Given the description of an element on the screen output the (x, y) to click on. 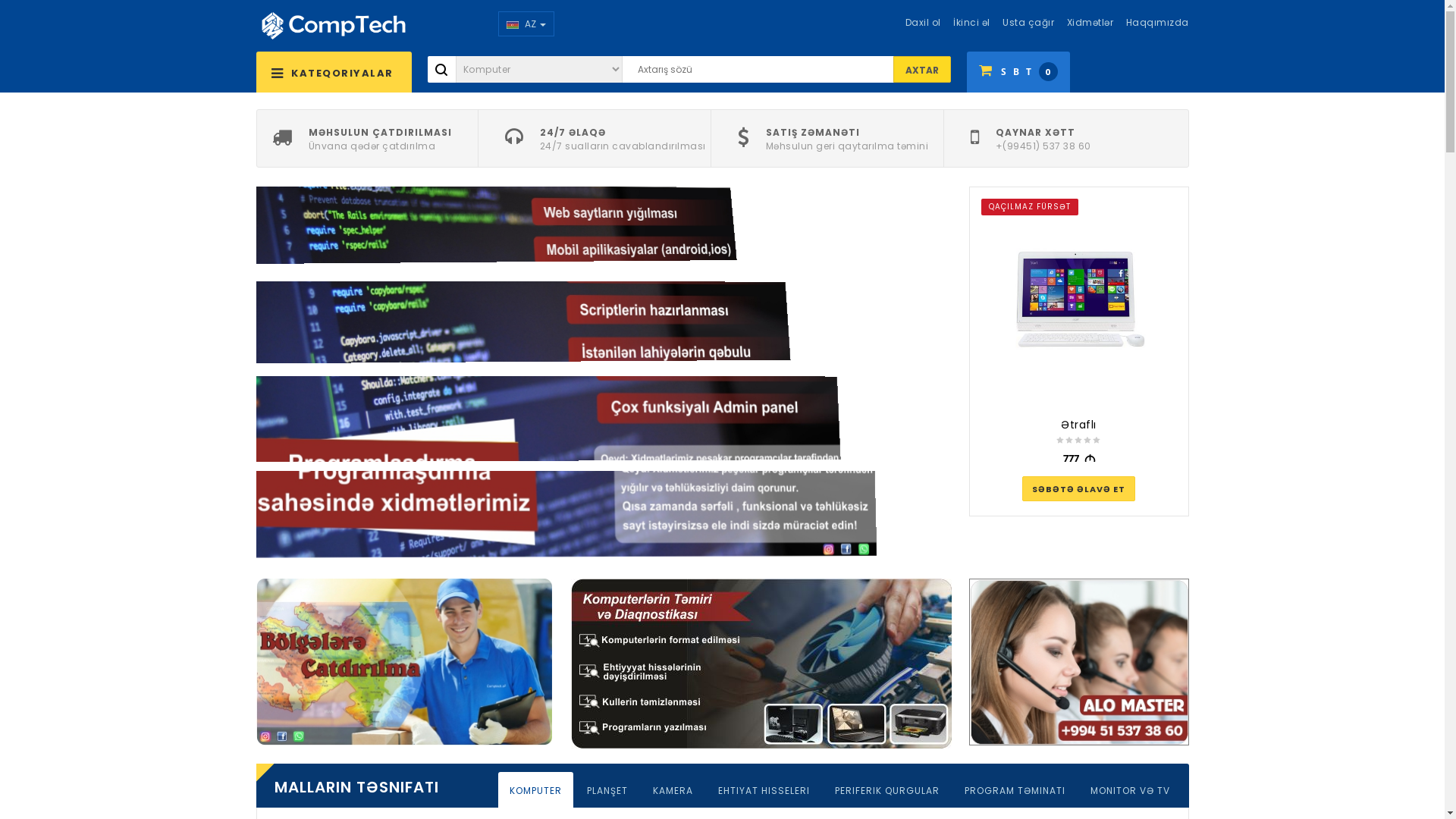
KOMPUTER Element type: text (534, 789)
KAMERA Element type: text (672, 789)
EHTIYAT HISSELERI Element type: text (763, 789)
PERIFERIK QURGULAR Element type: text (886, 789)
Comptech Company Element type: hover (333, 24)
Daxil ol Element type: text (917, 22)
AZ Element type: text (526, 23)
AXTAR Element type: text (921, 69)
